Given the description of an element on the screen output the (x, y) to click on. 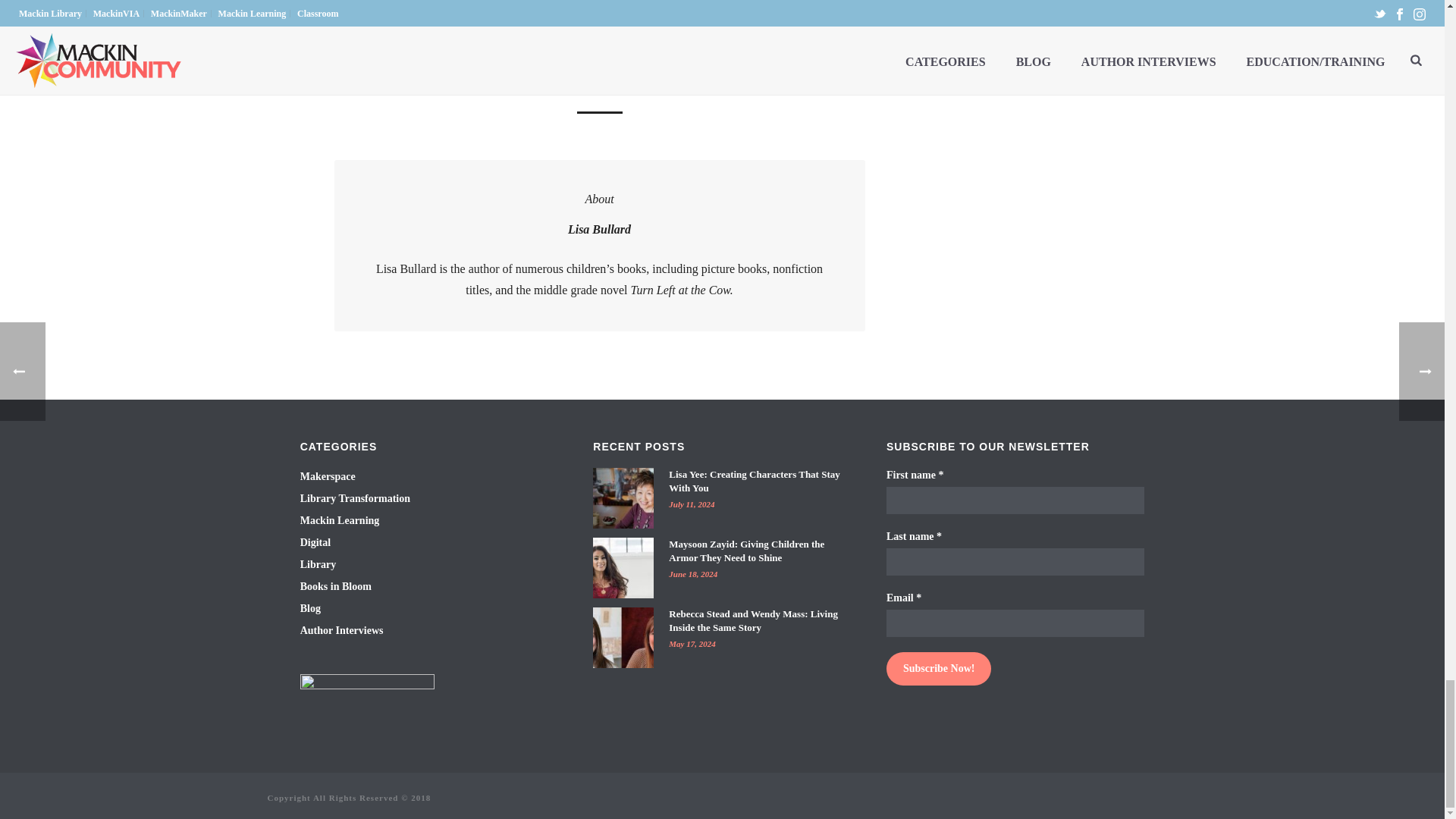
Subscribe Now! (938, 668)
Print (544, 54)
First name (1015, 500)
Maysoon Zayid: Giving Children the Armor They Need to Shine (622, 567)
Email (1015, 623)
Lisa Yee: Creating Characters That Stay With You (622, 497)
Last name (1015, 561)
Rebecca Stead and Wendy Mass: Living Inside the Same Story (622, 637)
